Given the description of an element on the screen output the (x, y) to click on. 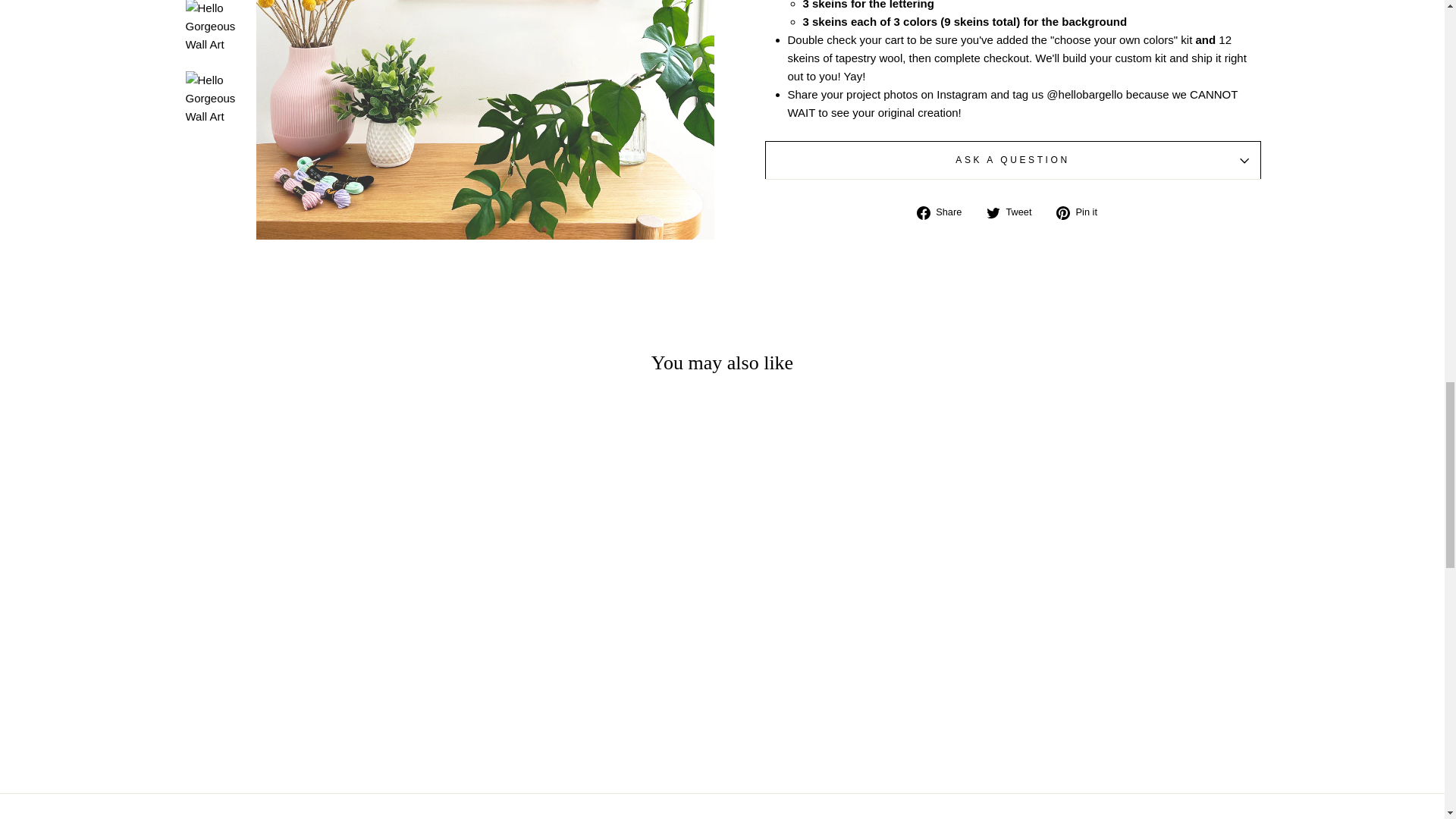
Share on Facebook (944, 211)
twitter (993, 213)
Pin on Pinterest (1082, 211)
Tweet on Twitter (1014, 211)
